Given the description of an element on the screen output the (x, y) to click on. 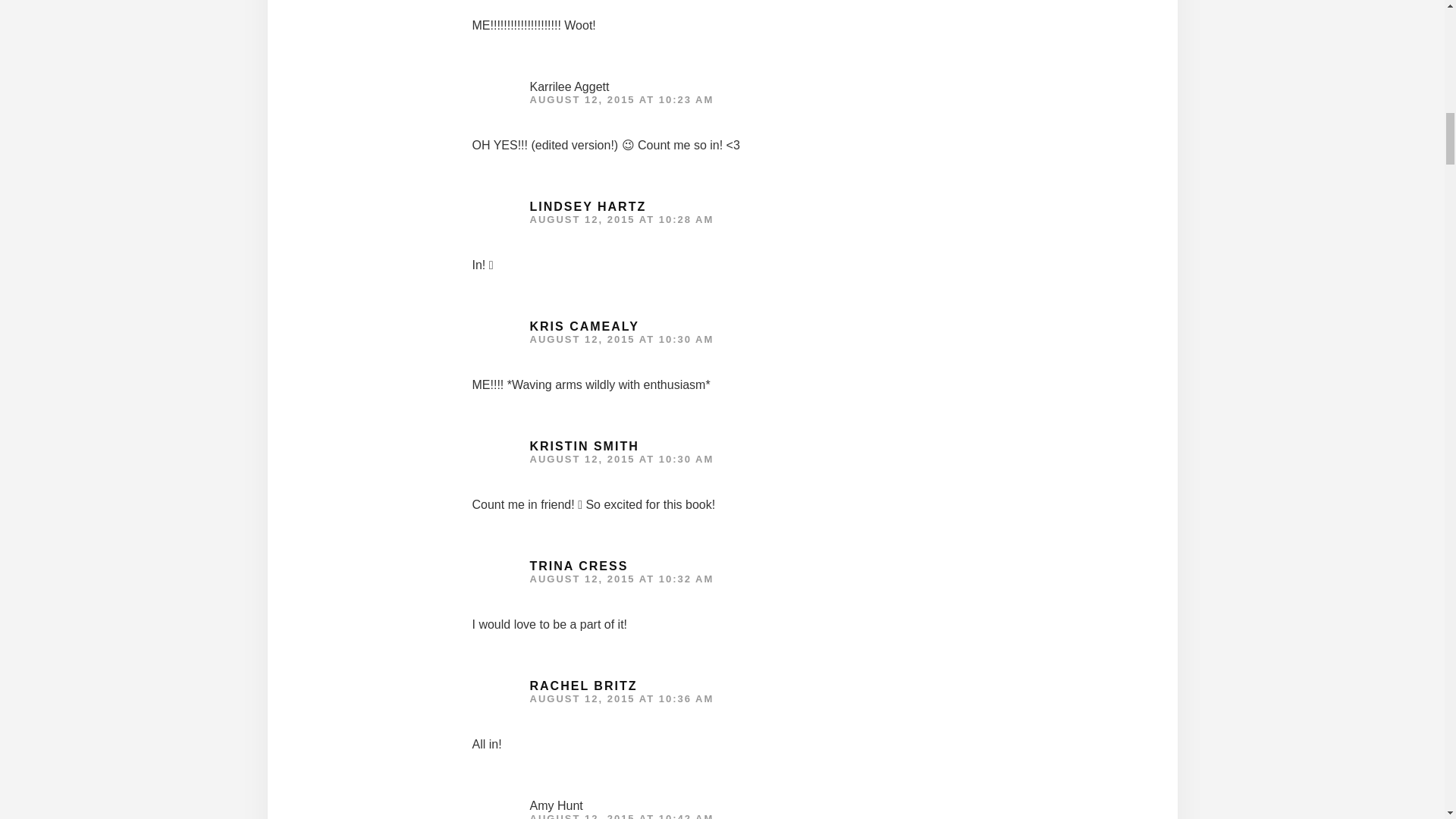
LINDSEY HARTZ (587, 205)
AUGUST 12, 2015 AT 10:23 AM (621, 99)
RACHEL BRITZ (583, 685)
TRINA CRESS (578, 565)
AUGUST 12, 2015 AT 10:36 AM (621, 698)
AUGUST 12, 2015 AT 10:28 AM (621, 219)
AUGUST 12, 2015 AT 10:32 AM (621, 578)
KRISTIN SMITH (584, 445)
AUGUST 12, 2015 AT 10:42 AM (621, 816)
KRIS CAMEALY (584, 326)
AUGUST 12, 2015 AT 10:30 AM (621, 338)
AUGUST 12, 2015 AT 10:30 AM (621, 459)
